Given the description of an element on the screen output the (x, y) to click on. 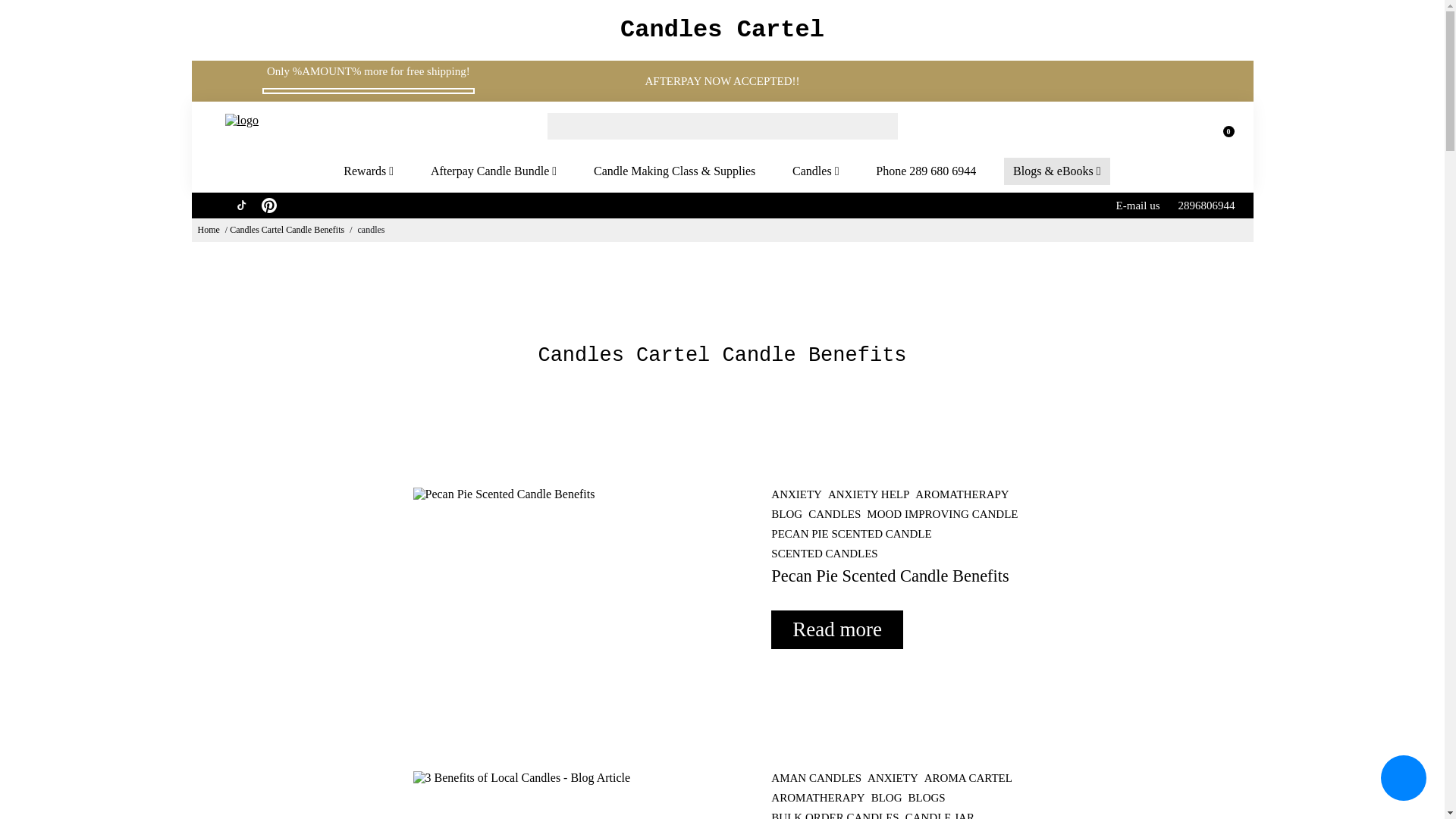
AFTERPAY NOW ACCEPTED (718, 80)
Home (207, 229)
Phone 289 680 6944 (925, 170)
